Given the description of an element on the screen output the (x, y) to click on. 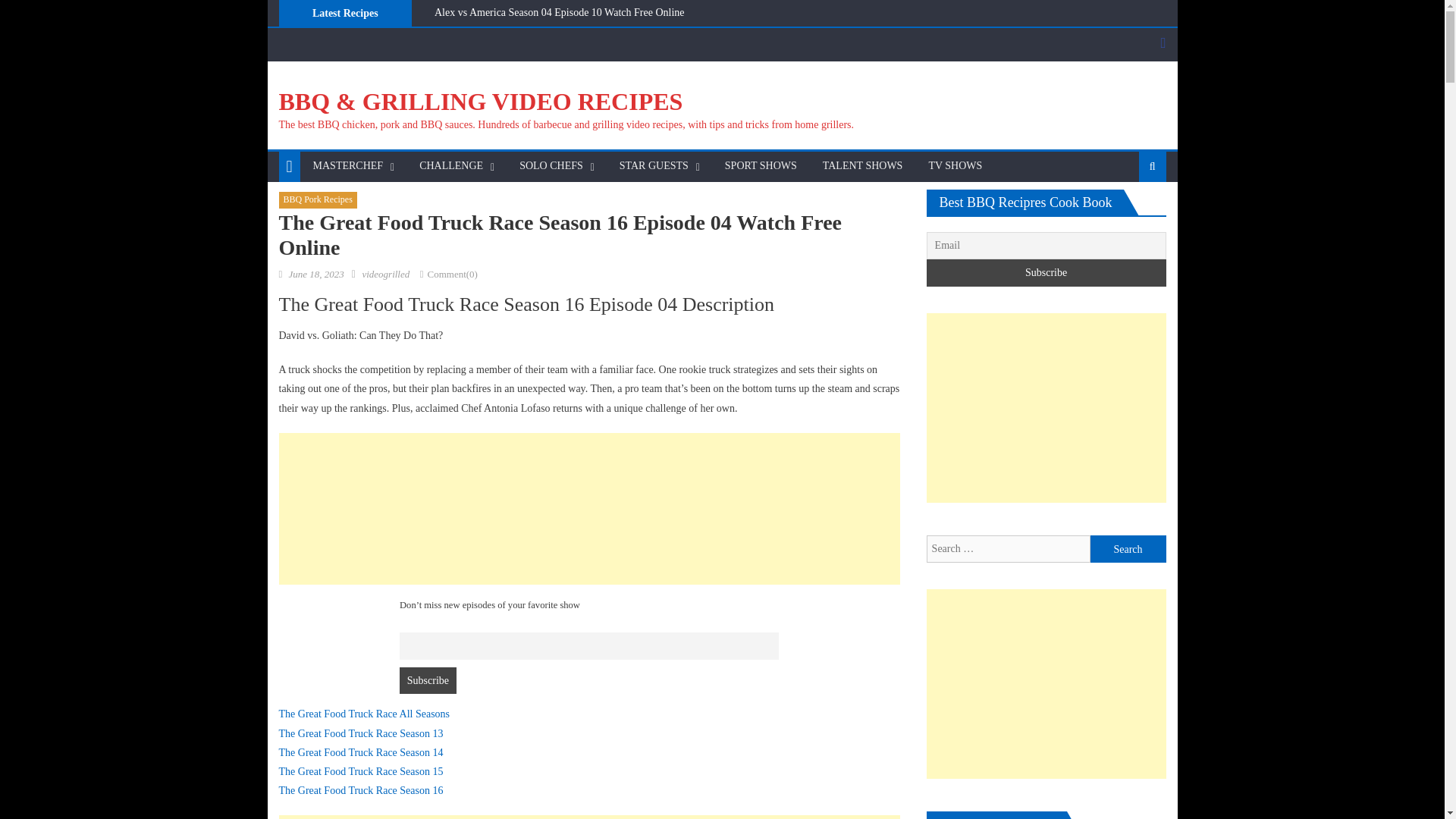
Search (1128, 548)
Alex vs America Season 04 Episode 10 Watch Free Online (558, 12)
Advertisement (1046, 683)
Advertisement (589, 508)
Search (1128, 548)
Subscribe (427, 680)
Subscribe (1046, 272)
Advertisement (1046, 407)
MASTERCHEF (347, 165)
